Given the description of an element on the screen output the (x, y) to click on. 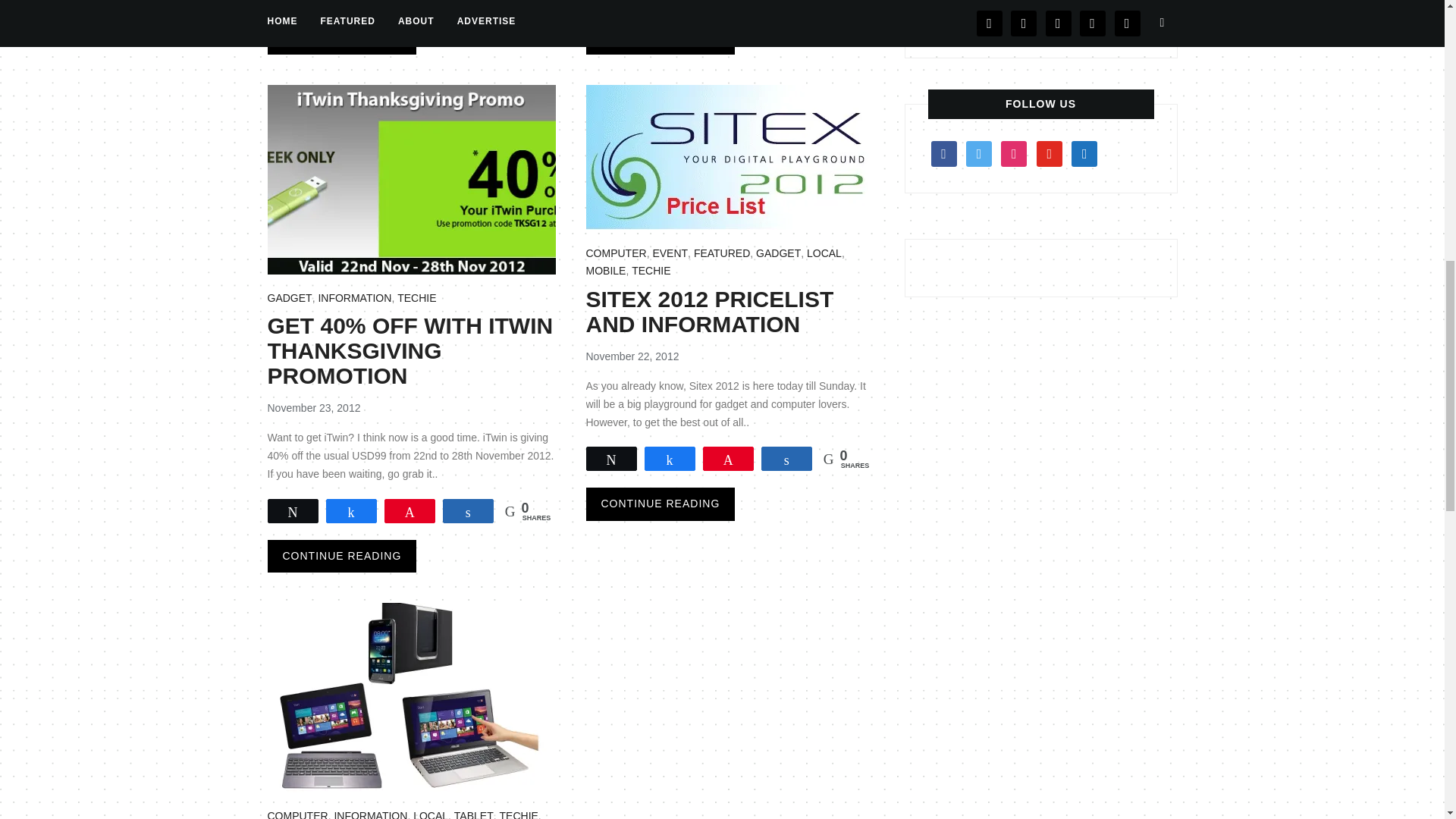
CONTINUE READING (341, 37)
Permalink to foodpanda teams up with RedMart in Singapore (341, 37)
Permalink to Sitex 2012 Pricelist and Information (660, 503)
